Given the description of an element on the screen output the (x, y) to click on. 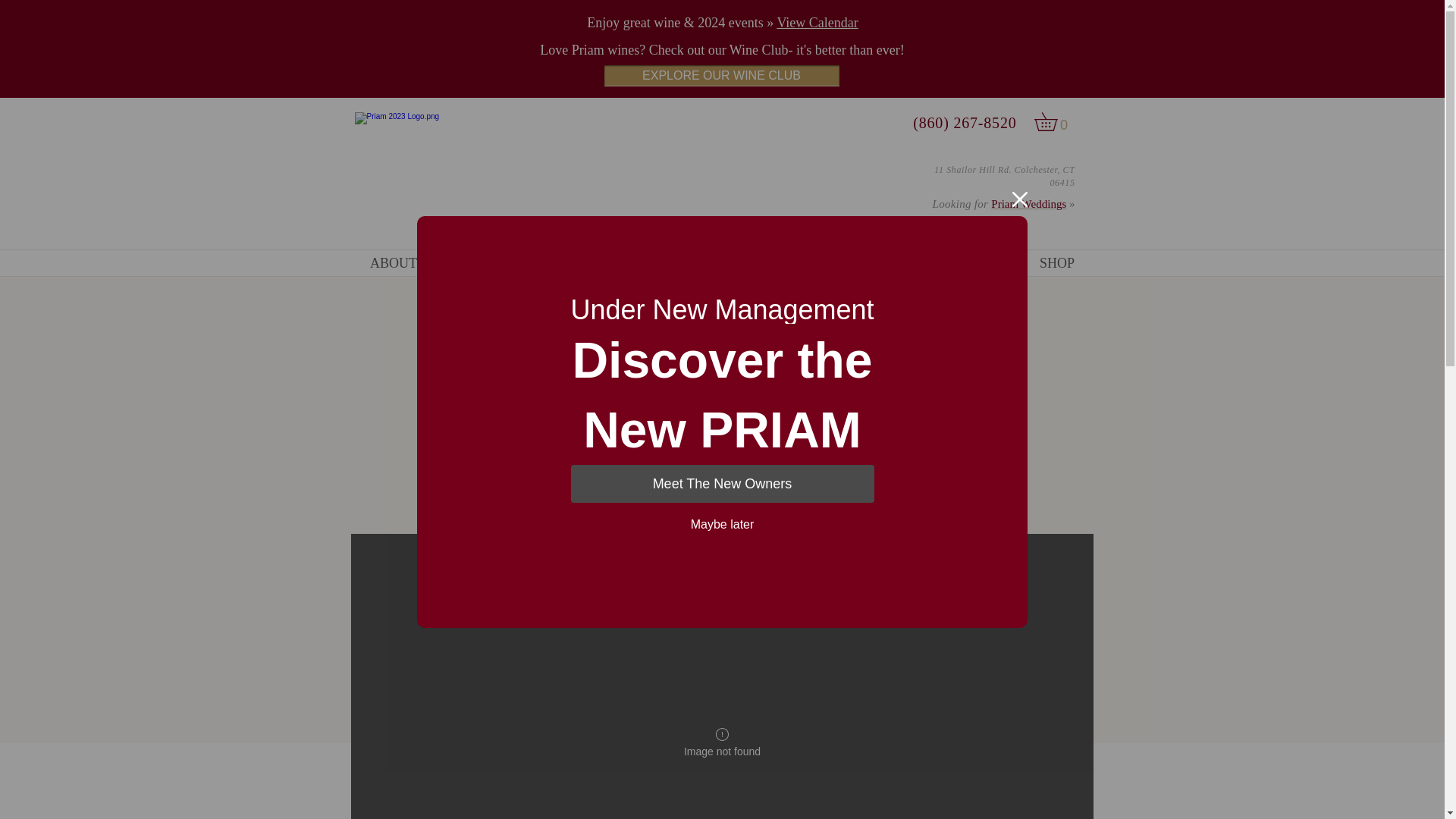
EXPLORE OUR WINE CLUB (721, 75)
CONTACT (971, 262)
See other events (722, 462)
SHOP (1057, 262)
ABOUT (392, 262)
View Calendar (816, 22)
0 (1054, 121)
0 (1054, 121)
